Given the description of an element on the screen output the (x, y) to click on. 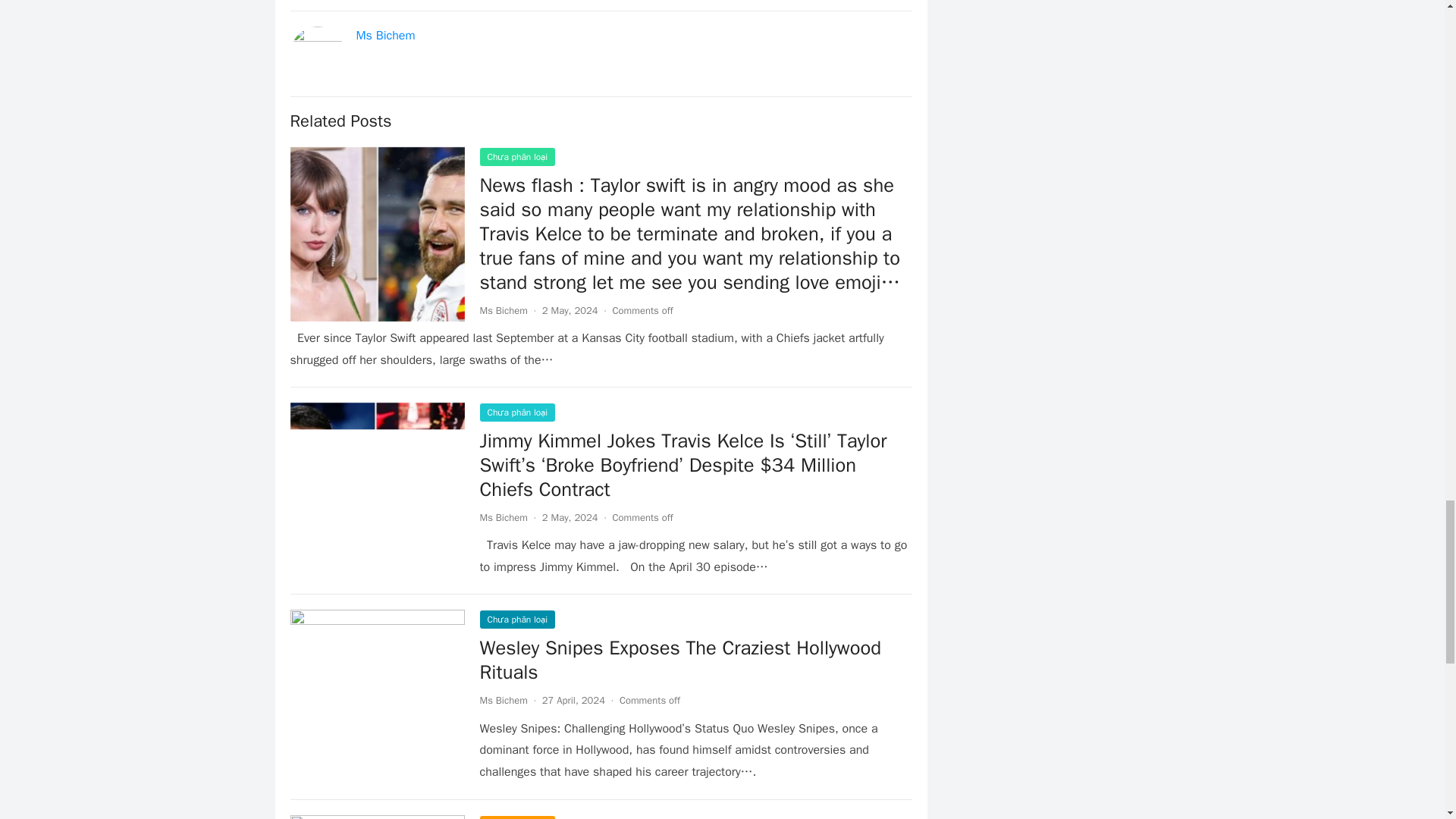
Ms Bichem (503, 517)
Ms Bichem (503, 309)
Ms Bichem (385, 35)
Posts by Ms Bichem (503, 309)
Wesley Snipes Exposes The Craziest Hollywood Rituals (679, 659)
Posts by Ms Bichem (503, 517)
Posts by Ms Bichem (503, 699)
Ms Bichem (503, 699)
